Given the description of an element on the screen output the (x, y) to click on. 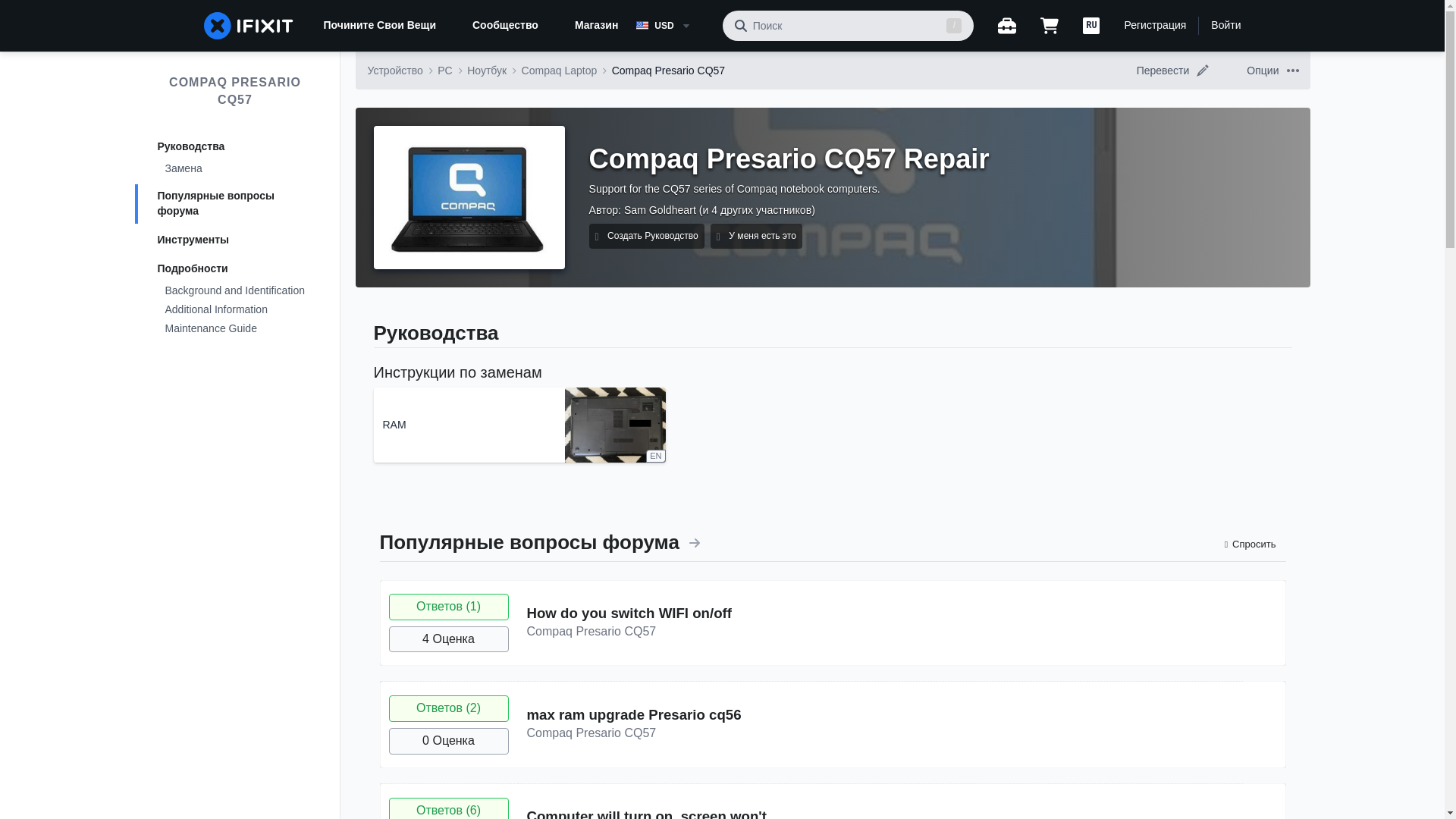
USD (673, 25)
Background and Identification (235, 291)
Sam Goldheart (659, 209)
Compaq Laptop (558, 70)
Compaq Presario CQ57 (668, 70)
Additional Information (235, 310)
COMPAQ PRESARIO CQ57 (234, 91)
